Given the description of an element on the screen output the (x, y) to click on. 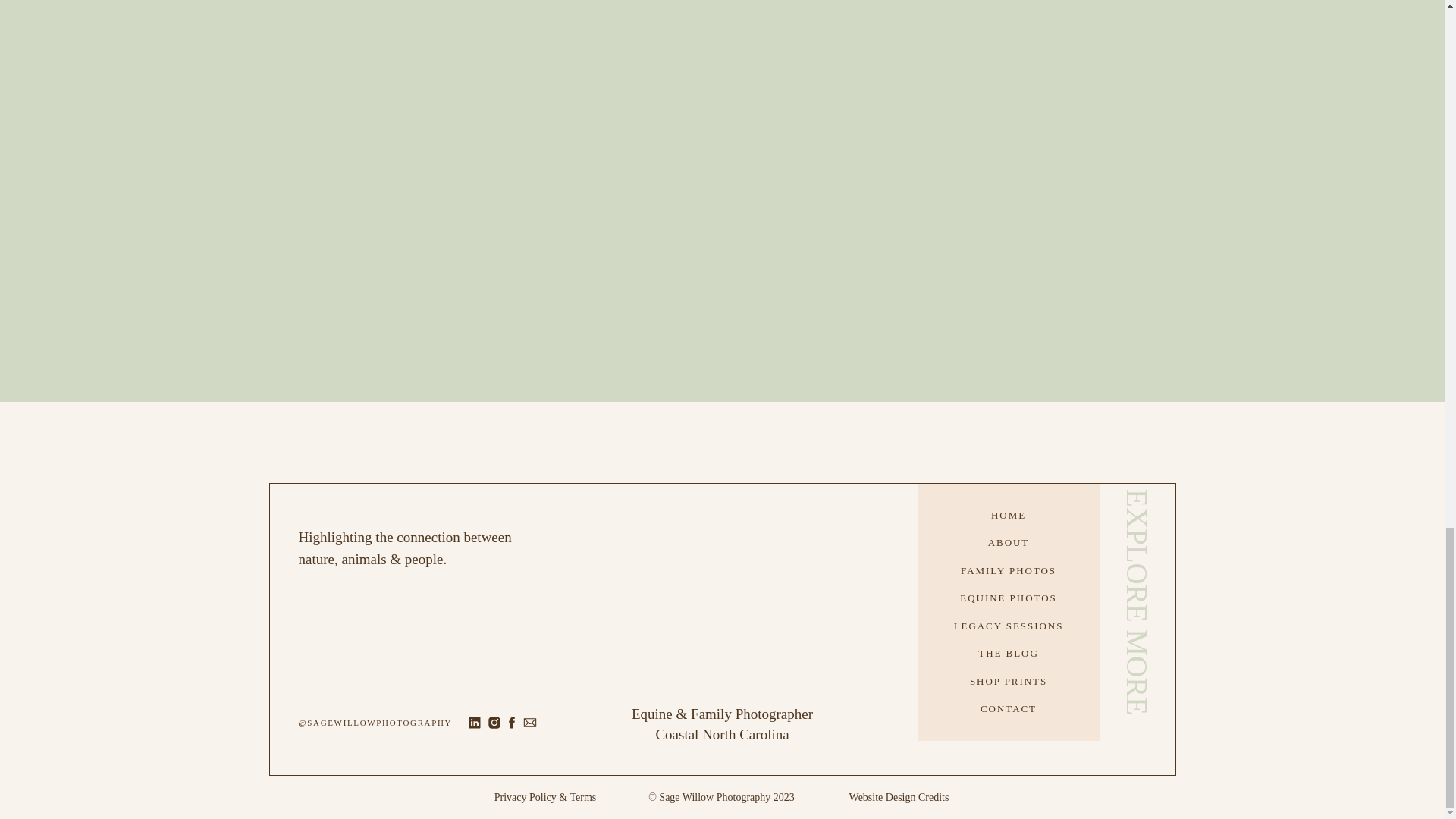
CONTACT (1008, 708)
ABOUT (1008, 542)
FAMILY PHOTOS (1008, 570)
HOME (1008, 515)
LEGACY SESSIONS (1008, 626)
THE BLOG (1008, 653)
SHOP PRINTS (1008, 681)
Website Design Credits (899, 798)
EQUINE PHOTOS (1008, 598)
